Given the description of an element on the screen output the (x, y) to click on. 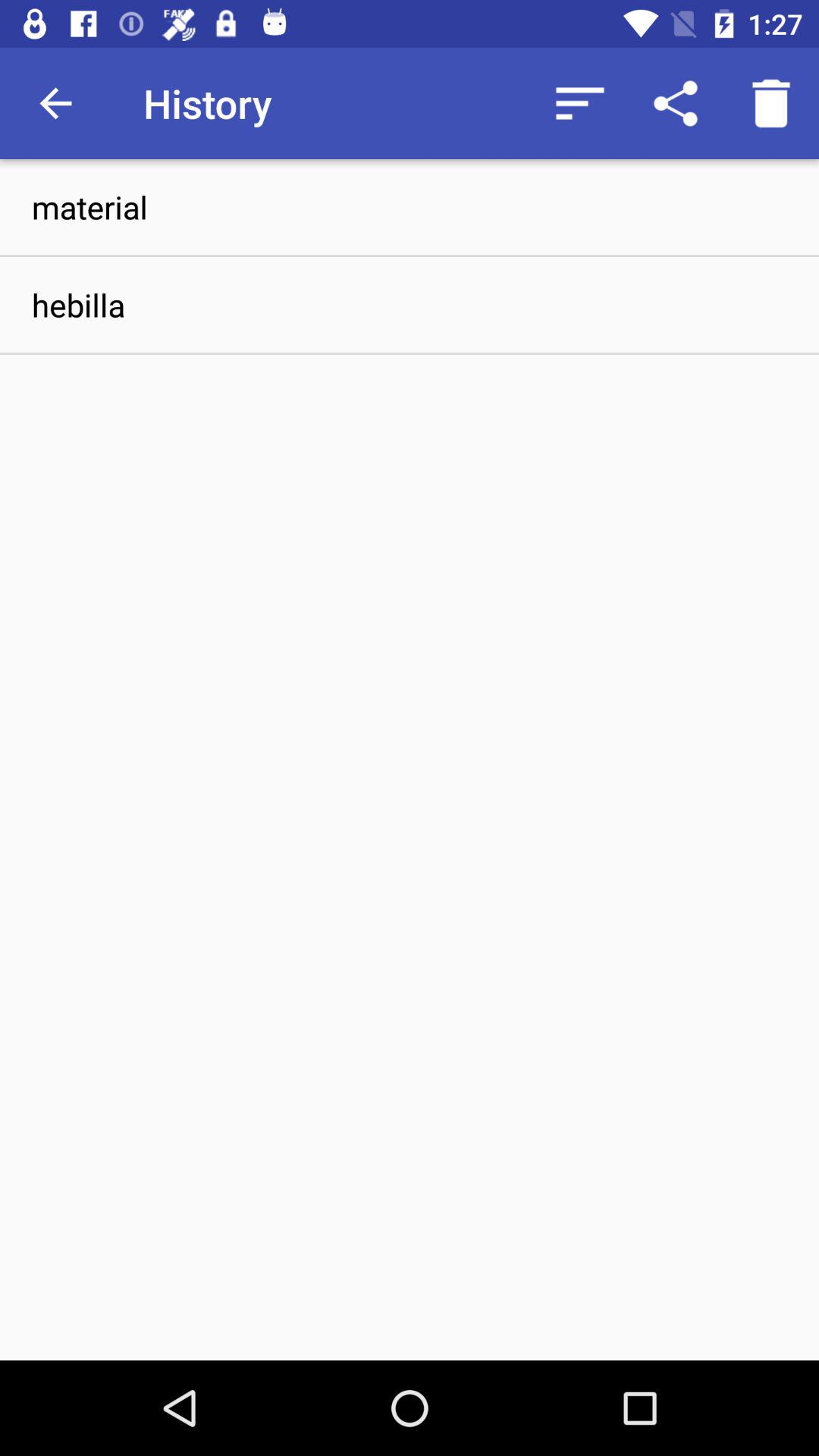
press icon next to history (579, 103)
